Given the description of an element on the screen output the (x, y) to click on. 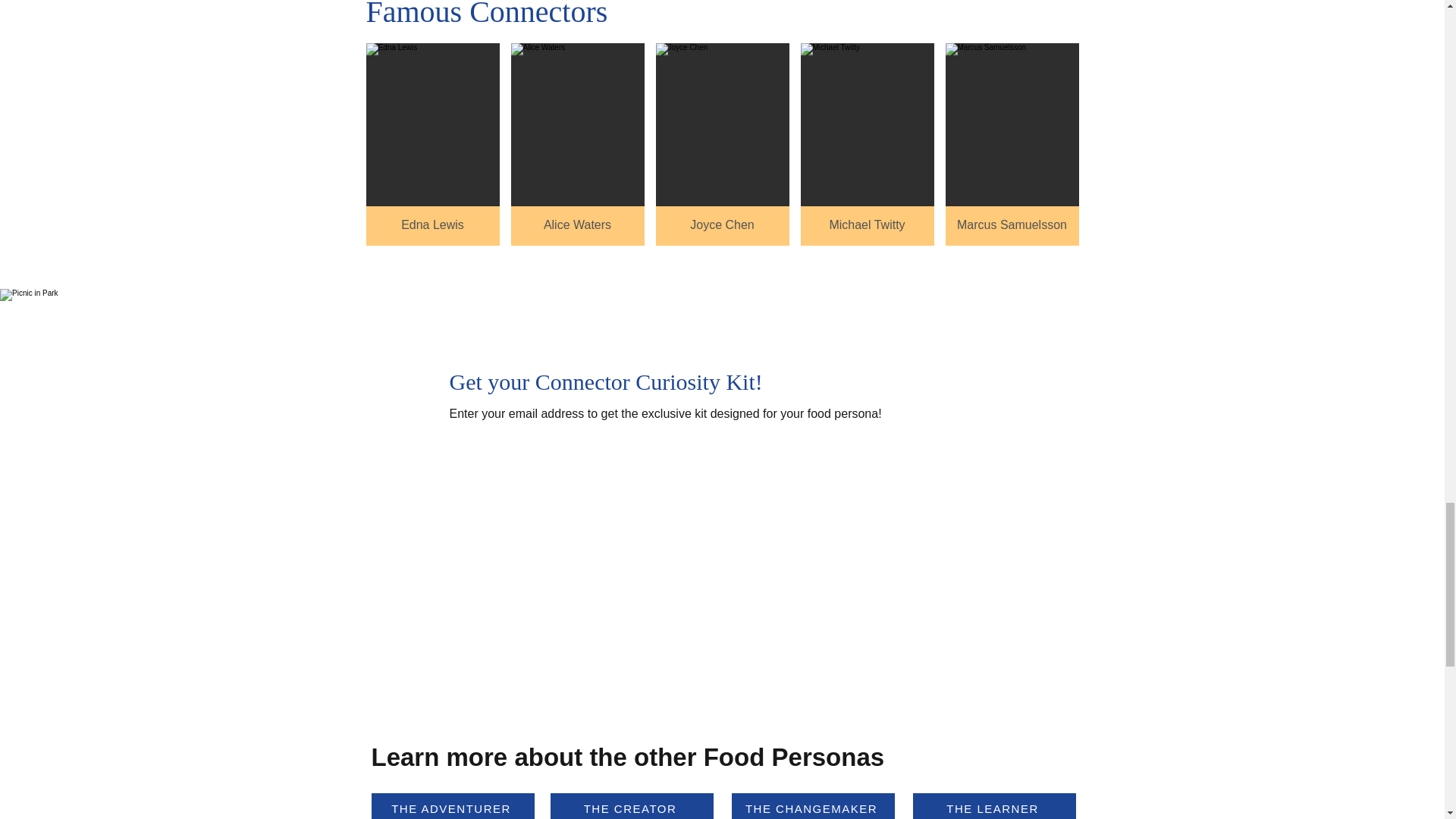
THE CHANGEMAKER (811, 806)
THE LEARNER (993, 806)
THE CREATOR (631, 806)
THE ADVENTURER (452, 806)
